Given the description of an element on the screen output the (x, y) to click on. 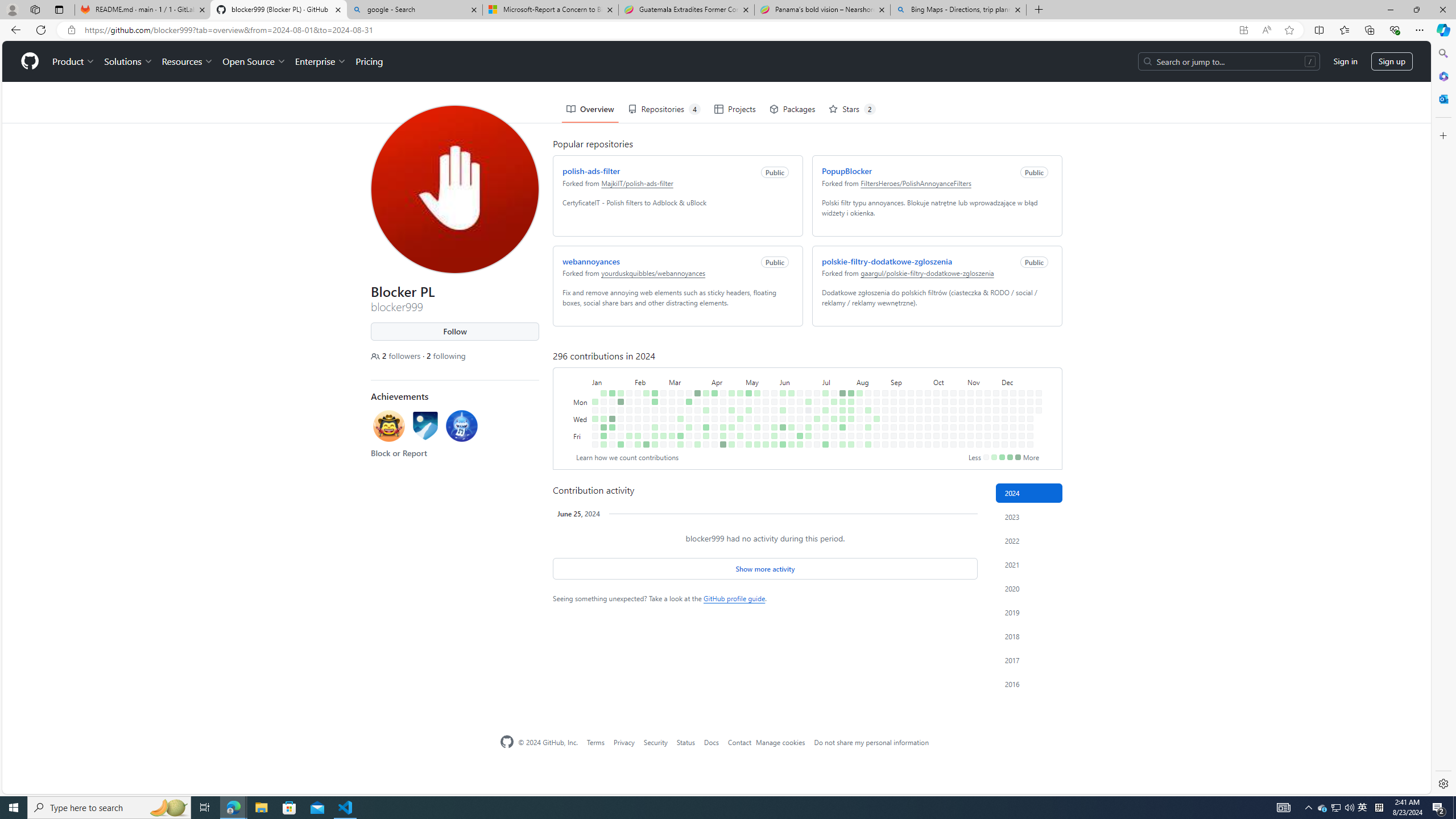
1 contribution on August 17th. (867, 444)
No contributions on May 27th. (771, 360)
November (981, 339)
5 contributions on February 18th. (652, 351)
2 contributions on January 3rd. (592, 377)
No contributions on October 3rd. (925, 386)
No contributions on September 26th. (917, 386)
10 contributions on July 21st. (840, 351)
Docs (711, 741)
No contributions on December 6th. (1004, 435)
No contributions on July 5th. (814, 394)
No contributions on October 30th. (959, 377)
No contributions on June 3rd. (780, 360)
7 contributions on June 6th. (780, 386)
